Given the description of an element on the screen output the (x, y) to click on. 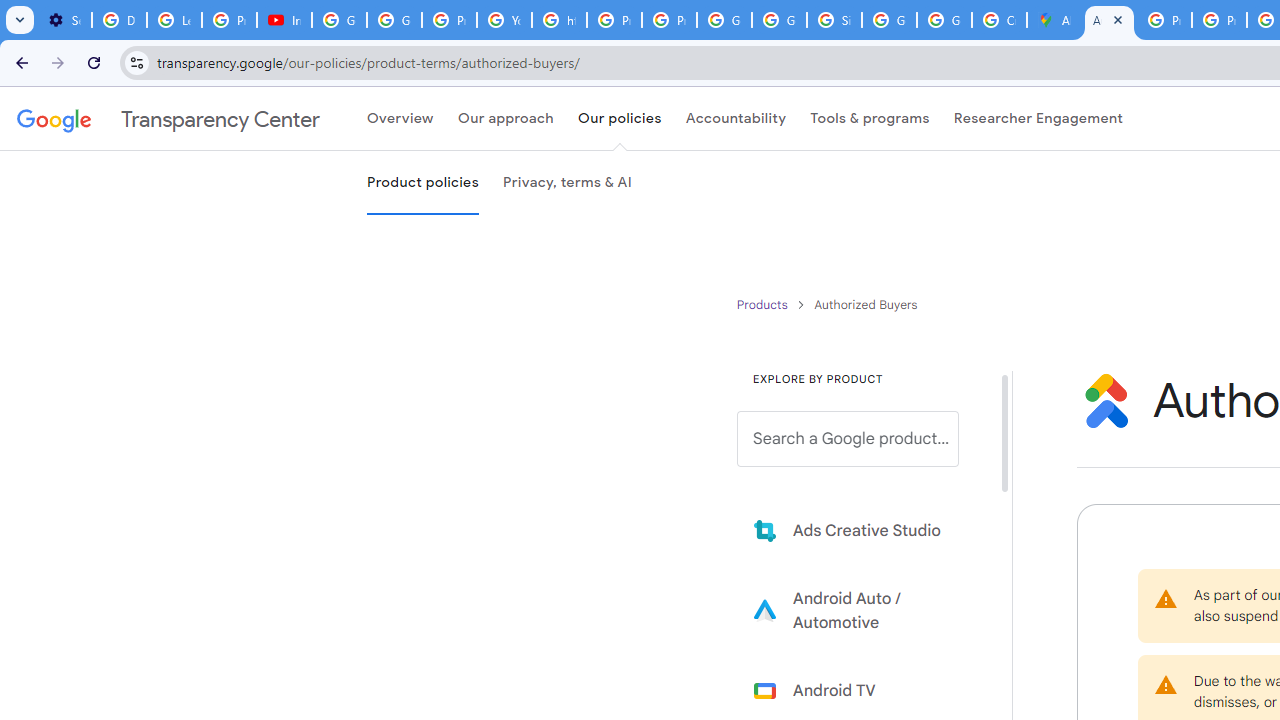
Google Account Help (339, 20)
Tools & programs (869, 119)
Privacy, terms & AI (567, 183)
Privacy Help Center - Policies Help (1218, 20)
Researcher Engagement (1038, 119)
Learn more about Ads Creative Studio (862, 530)
https://scholar.google.com/ (559, 20)
Privacy Help Center - Policies Help (1163, 20)
Learn how to find your photos - Google Photos Help (174, 20)
Accountability (735, 119)
Privacy Help Center - Policies Help (614, 20)
